Given the description of an element on the screen output the (x, y) to click on. 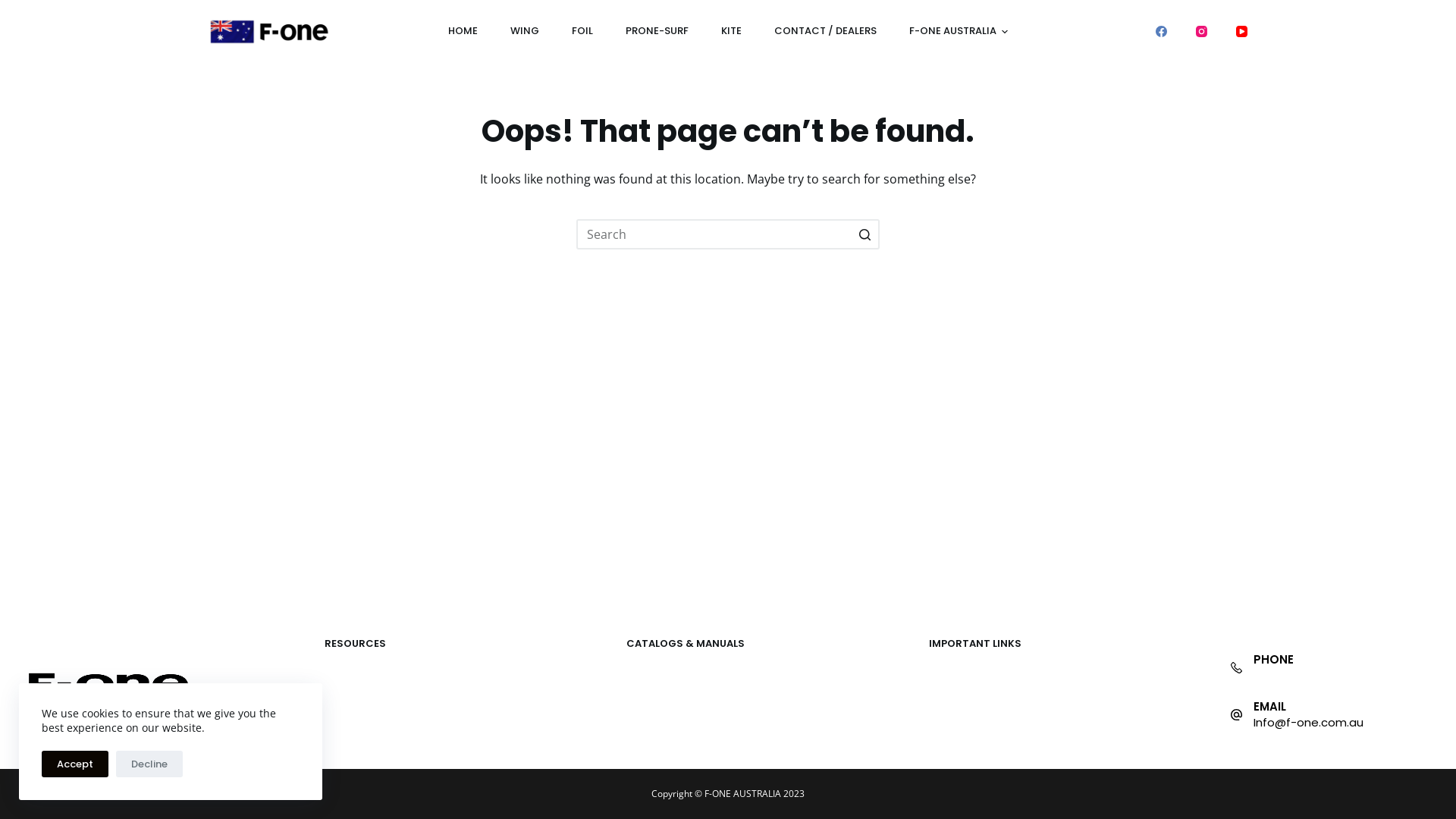
CONTACT / DEALERS Element type: text (824, 30)
Warranty Element type: text (951, 702)
0487042694 Element type: text (1288, 675)
HOME Element type: text (462, 30)
F-ONE AUSTRALIA Element type: text (958, 30)
Search for... Element type: hover (727, 234)
WING Element type: text (524, 30)
Decline Element type: text (149, 763)
FOIL Element type: text (581, 30)
Kites Catalog 2022 Element type: text (672, 669)
Skip to content Element type: text (15, 7)
Spare Parts Element type: text (957, 669)
Kite Element type: text (333, 669)
Foil Element type: text (332, 702)
Catalogs Element type: text (648, 702)
KITE Element type: text (730, 30)
User Manuals Element type: text (659, 718)
Contact Element type: text (948, 718)
Foil Catalog 2022 Element type: text (668, 685)
Accept Element type: text (74, 763)
Wing Element type: text (336, 685)
Prone-Surf Element type: text (351, 718)
PRONE-SURF Element type: text (656, 30)
Find a Dealer Element type: text (960, 685)
